Given the description of an element on the screen output the (x, y) to click on. 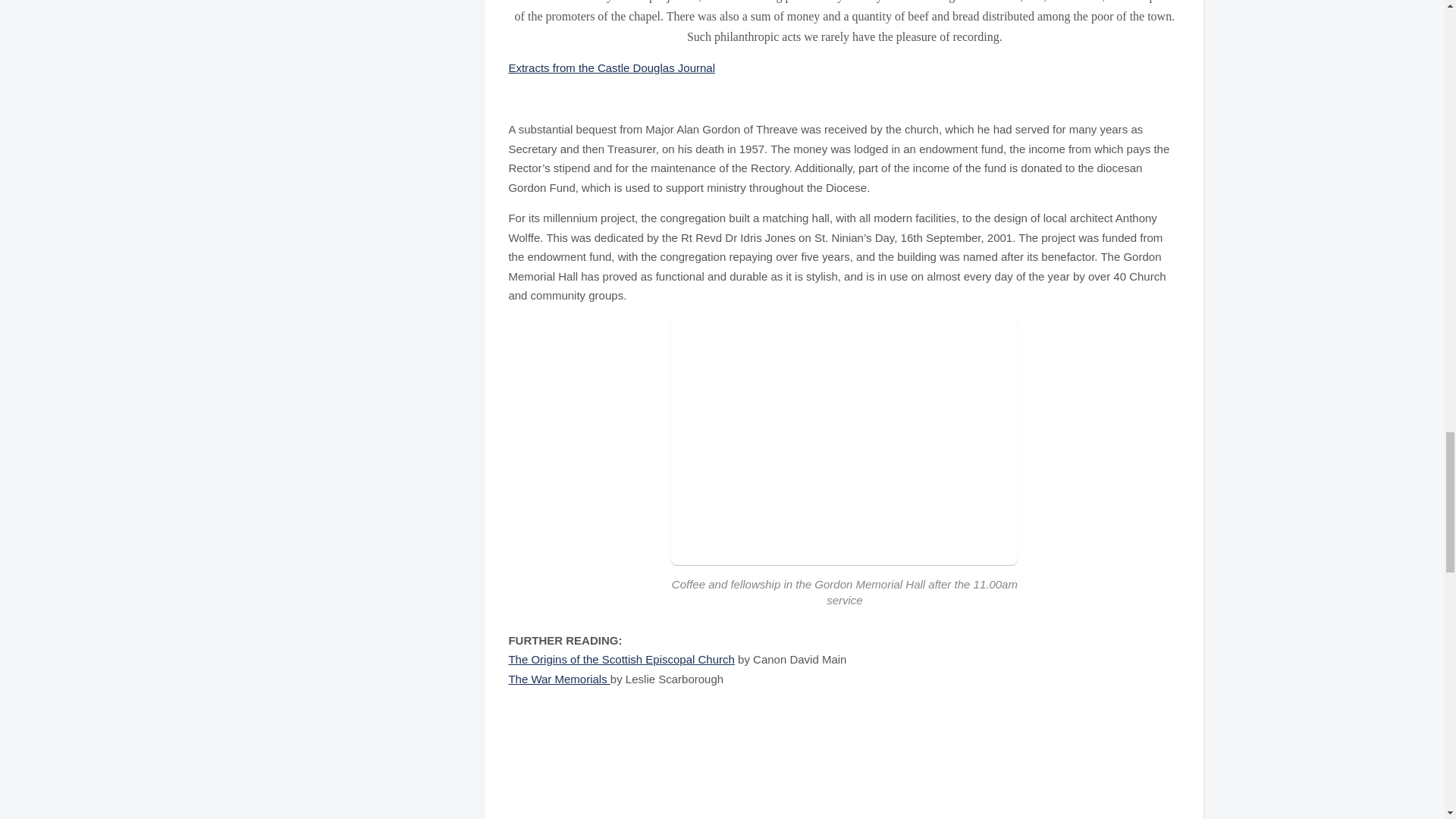
window11 (677, 754)
coffeeinhall (844, 440)
window2 (1013, 754)
The War Memorials (559, 678)
